Given the description of an element on the screen output the (x, y) to click on. 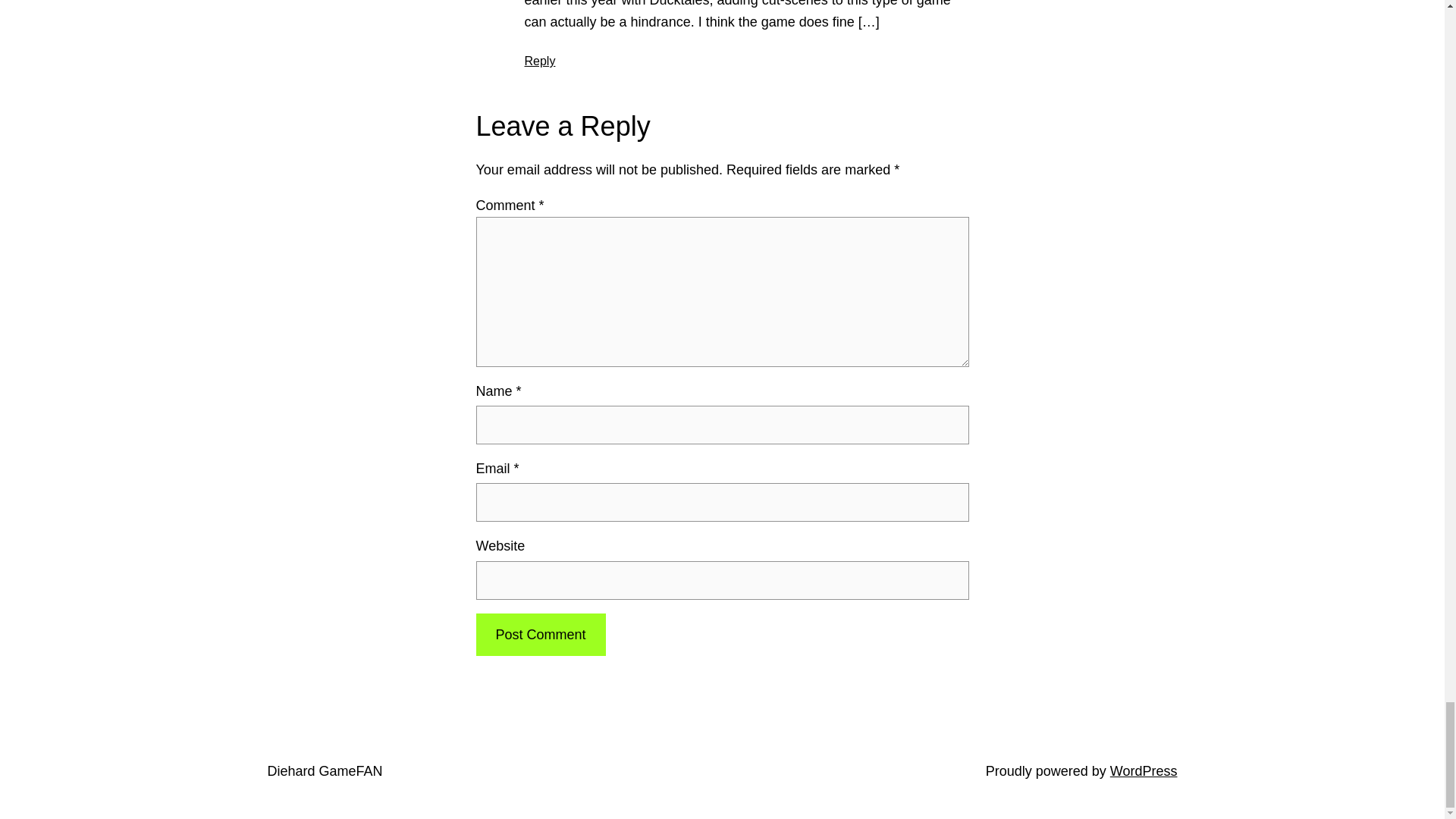
Reply (540, 60)
Post Comment (540, 634)
Diehard GameFAN (323, 770)
WordPress (1143, 770)
Post Comment (540, 634)
